Given the description of an element on the screen output the (x, y) to click on. 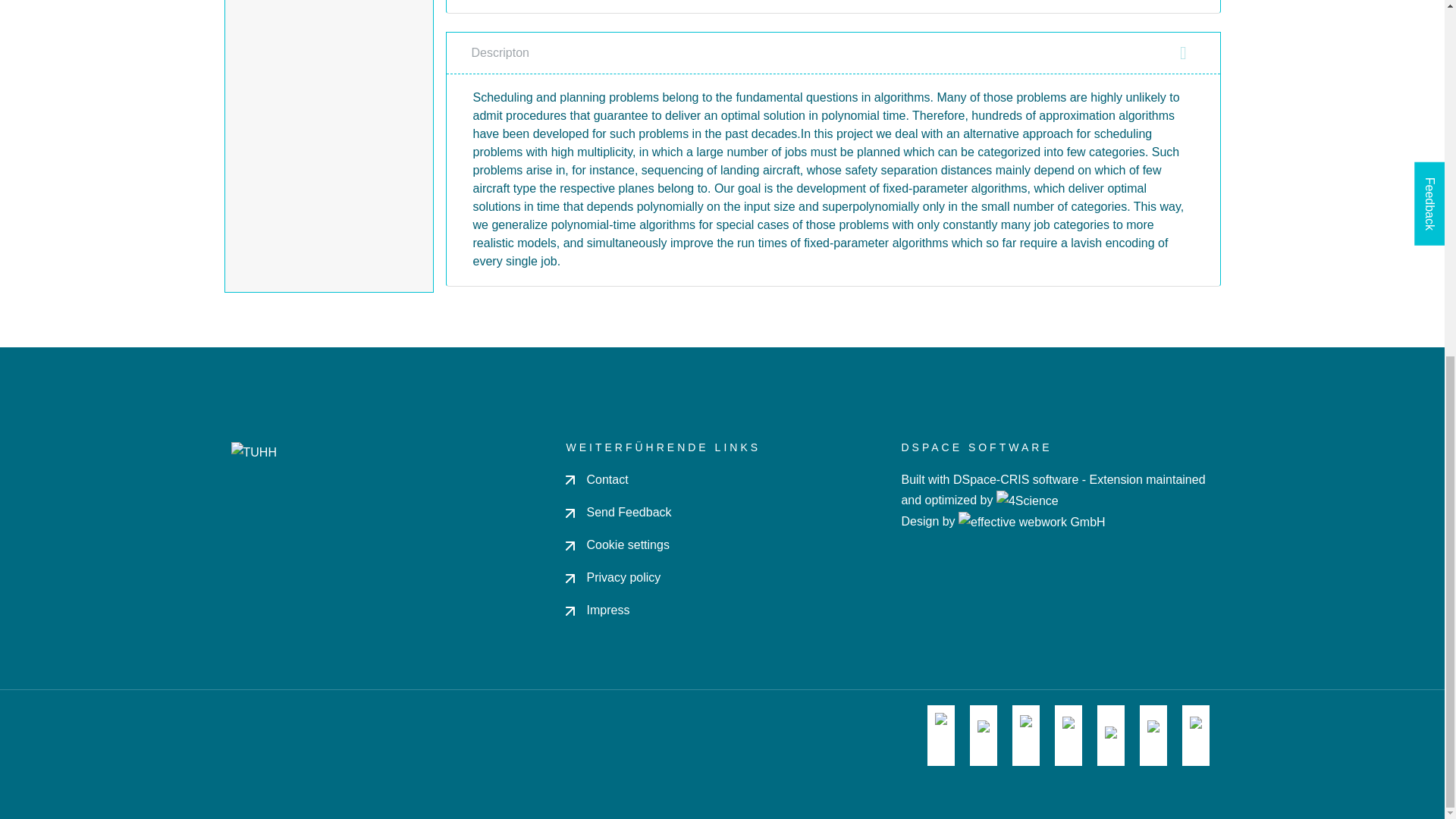
Descripton (832, 52)
effective webwork GmbH Hamburg (1031, 521)
Close section (1183, 53)
